Given the description of an element on the screen output the (x, y) to click on. 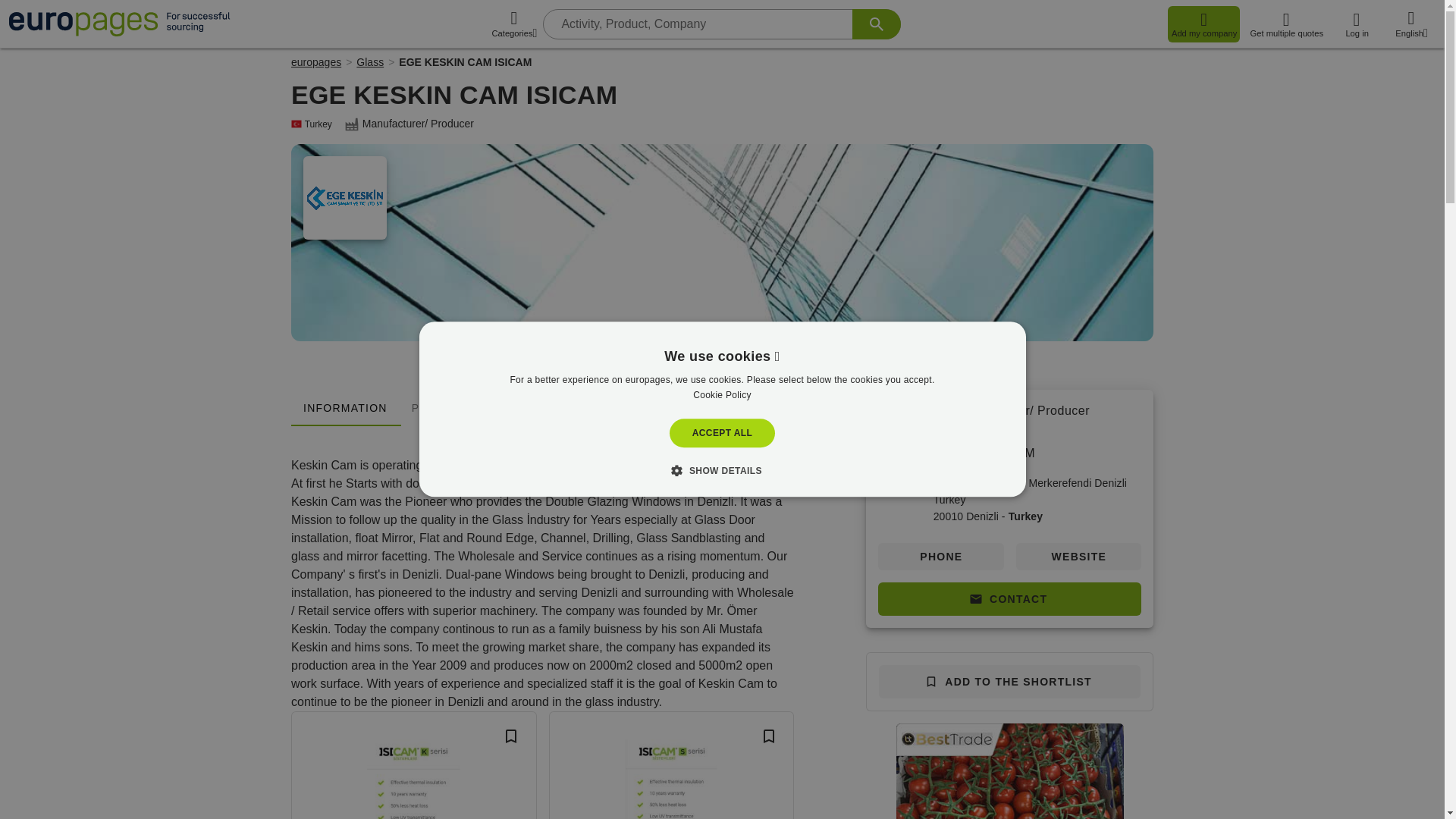
WEBSITE (1078, 556)
PHONE (940, 556)
Categories (513, 23)
Log in (1356, 23)
English (1411, 23)
europages (315, 62)
ADD TO THE SHORTLIST (1009, 681)
Add my company (1203, 23)
INFORMATION (344, 407)
CONTACT (1009, 598)
Get multiple quotes (1286, 23)
Glass (370, 62)
